Given the description of an element on the screen output the (x, y) to click on. 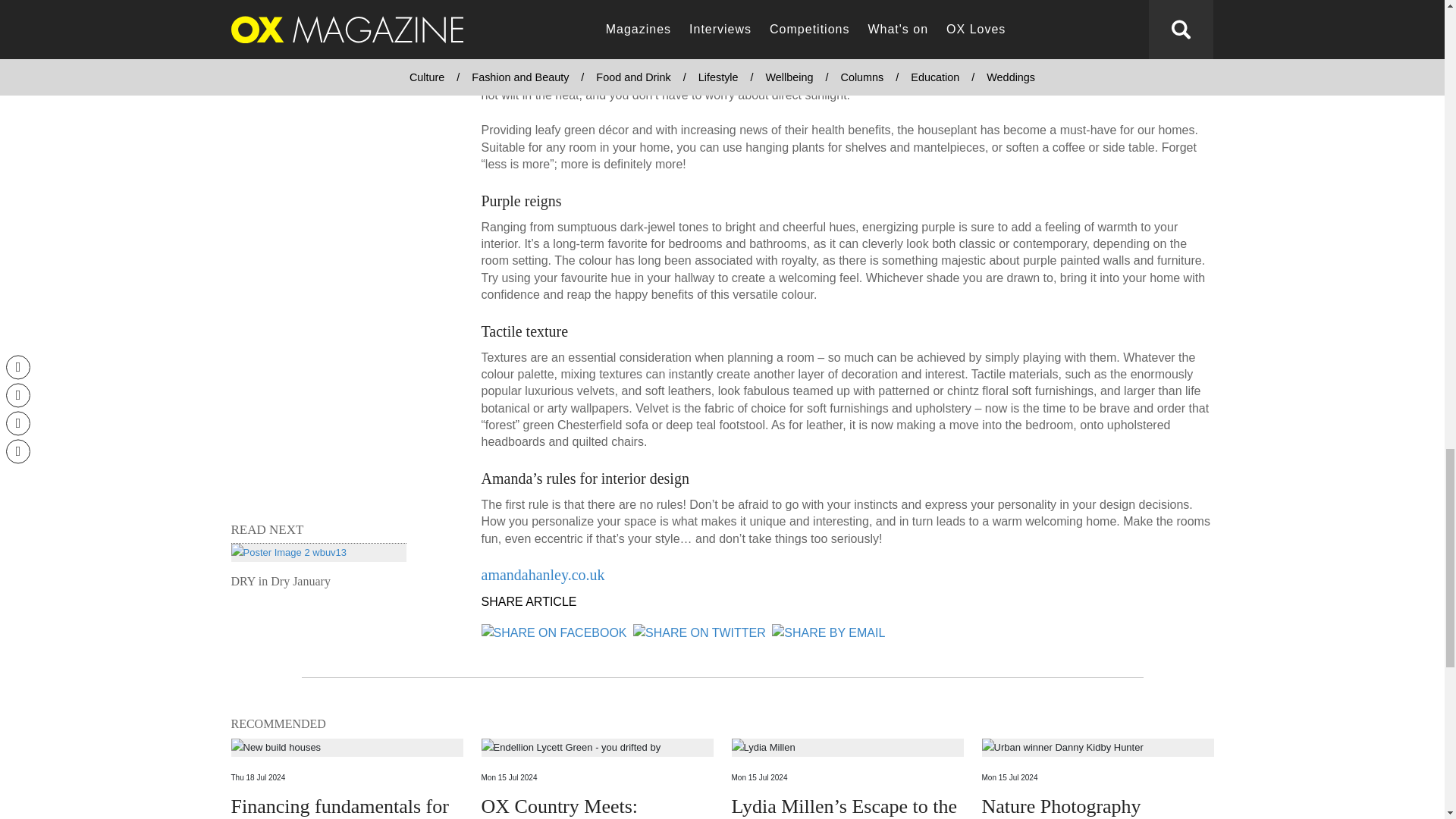
DRY in Dry January (318, 566)
